Given the description of an element on the screen output the (x, y) to click on. 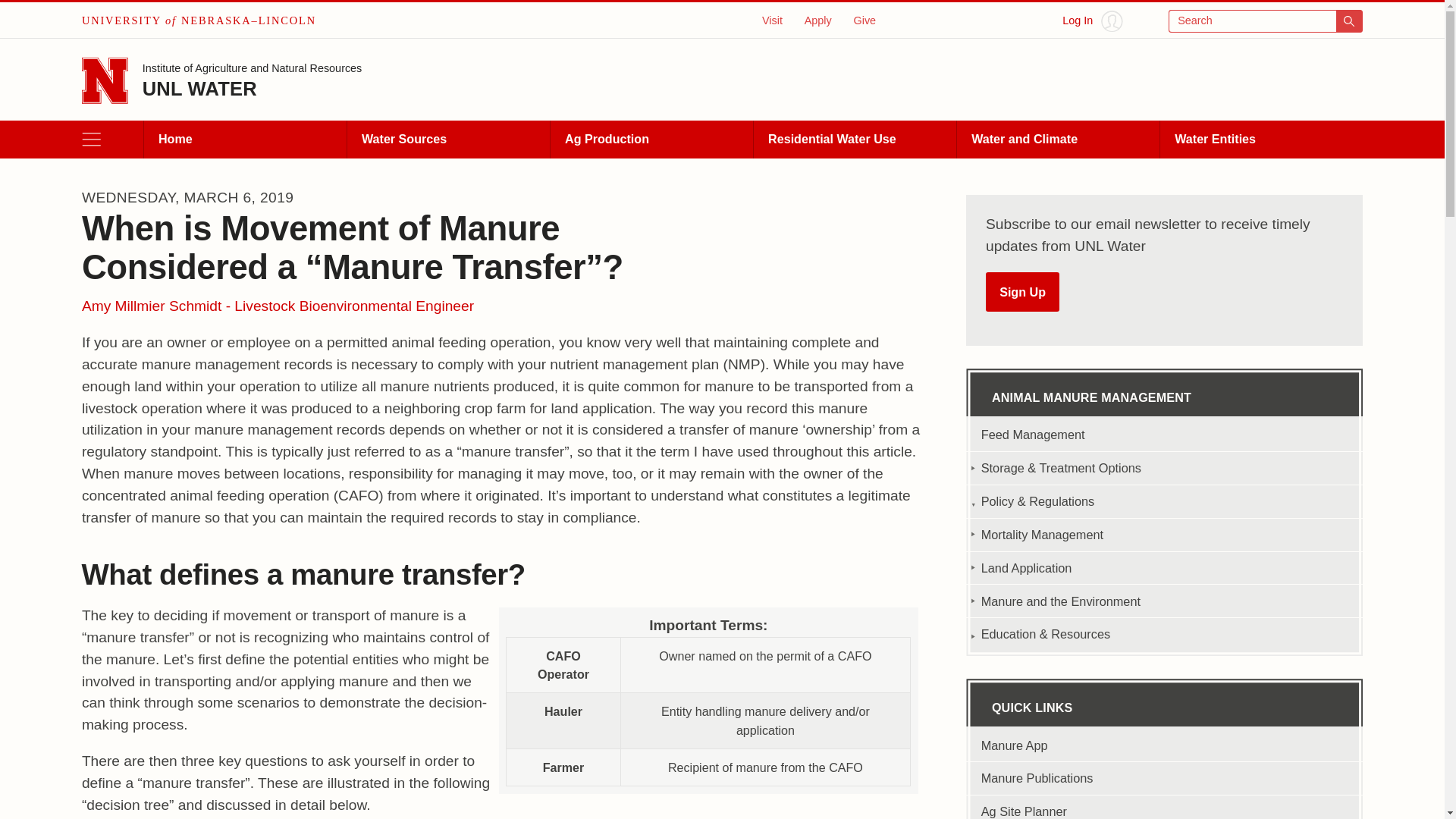
Home (244, 139)
Search (1265, 21)
Ag Production (651, 139)
UNL WATER (199, 88)
Water Sources (448, 139)
Skip to main content (19, 16)
Residential Water Use (854, 139)
Institute of Agriculture and Natural Resources (252, 69)
Apply (818, 20)
Give (864, 20)
Visit (772, 20)
Log In (1092, 21)
Water and Climate (1057, 139)
